Given the description of an element on the screen output the (x, y) to click on. 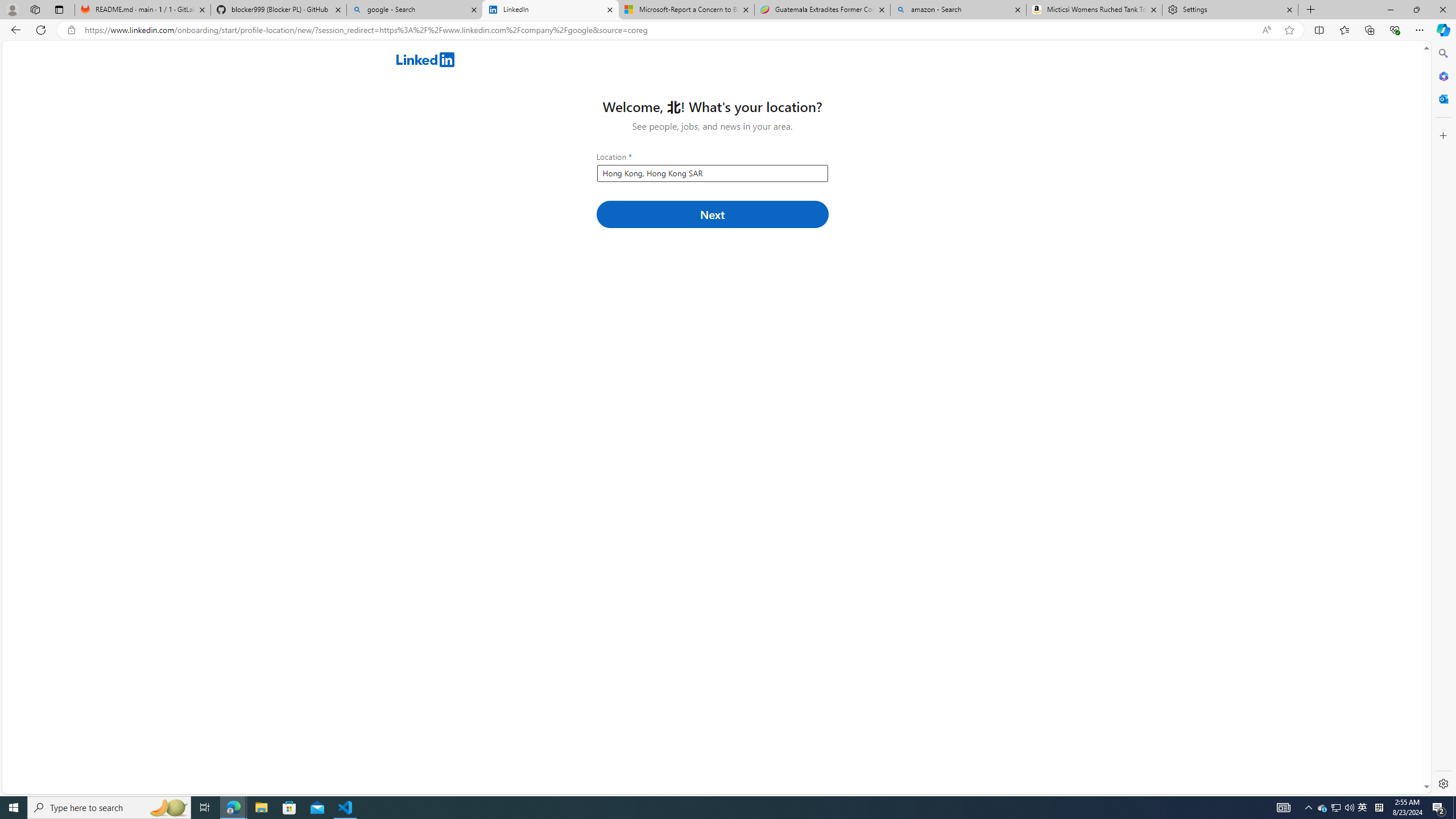
amazon - Search (957, 9)
